Given the description of an element on the screen output the (x, y) to click on. 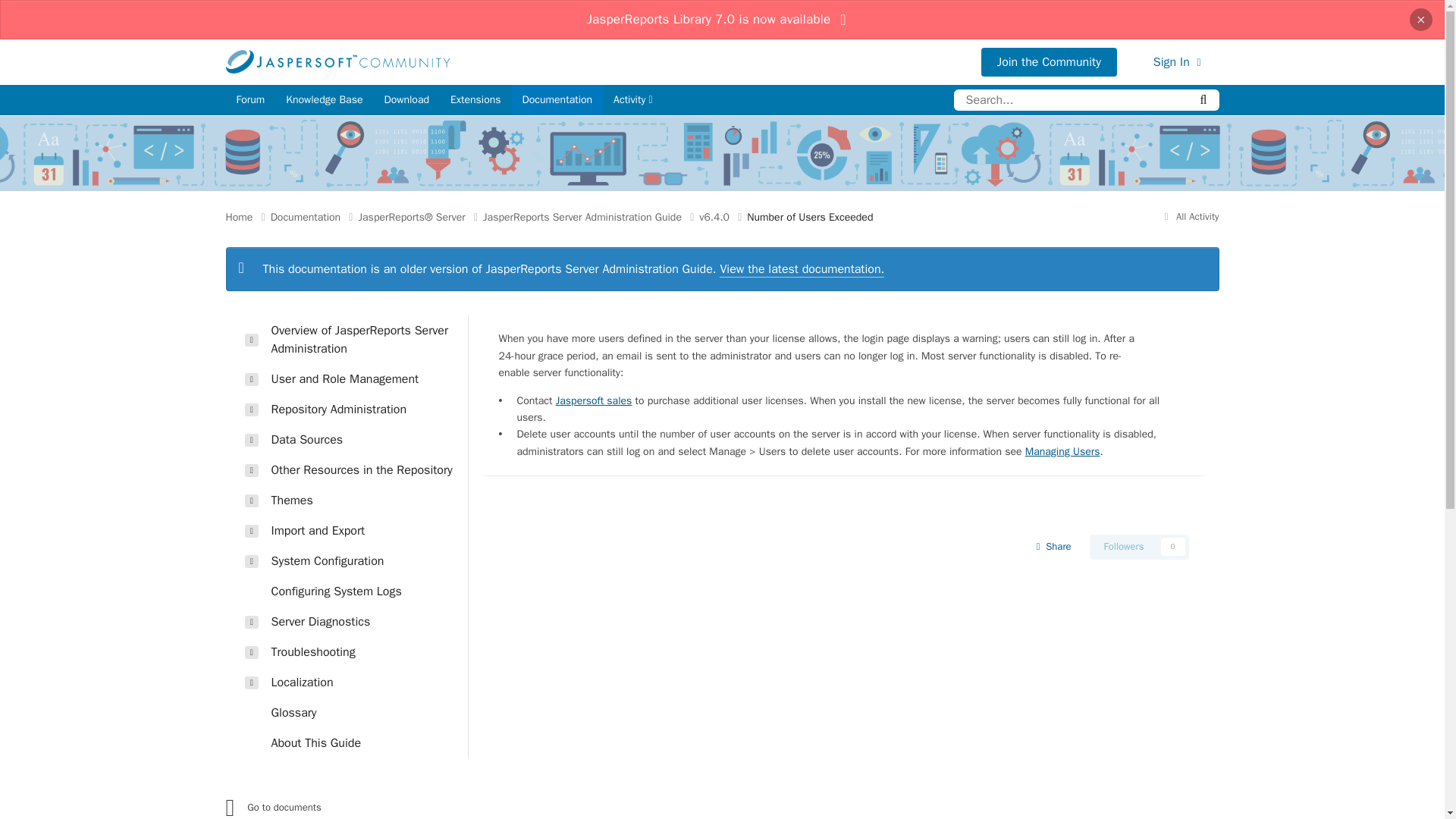
Home (247, 217)
Themes (354, 500)
All Activity (1188, 215)
JasperReports Server Administration Guide (590, 217)
User and Role Management (354, 378)
Sign In   (1177, 61)
Download (405, 100)
View the latest documentation. (801, 269)
Extensions (475, 100)
Other Resources in the Repository (354, 470)
